Given the description of an element on the screen output the (x, y) to click on. 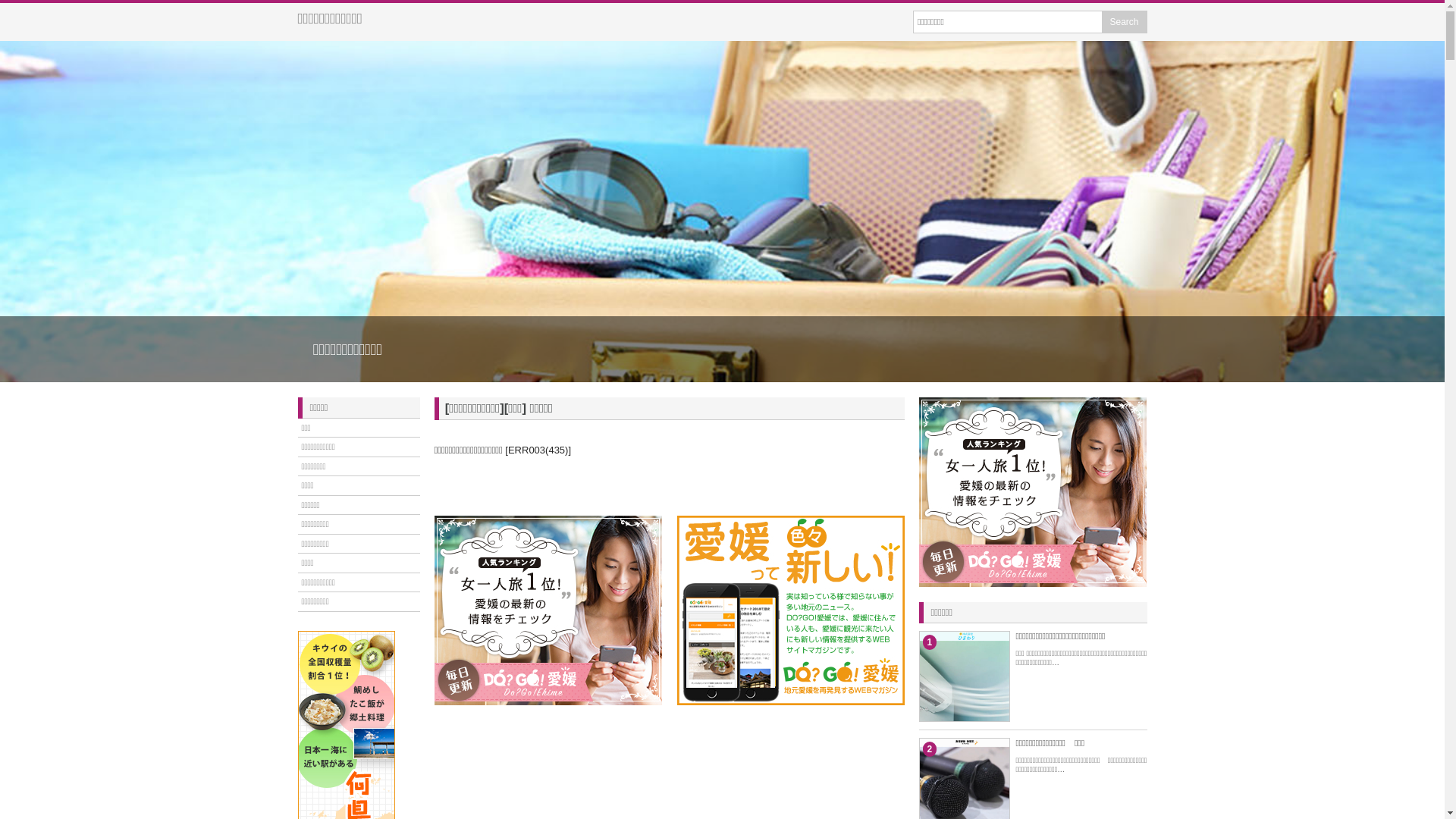
Search Element type: text (1123, 21)
1 Element type: text (1008, 756)
